Given the description of an element on the screen output the (x, y) to click on. 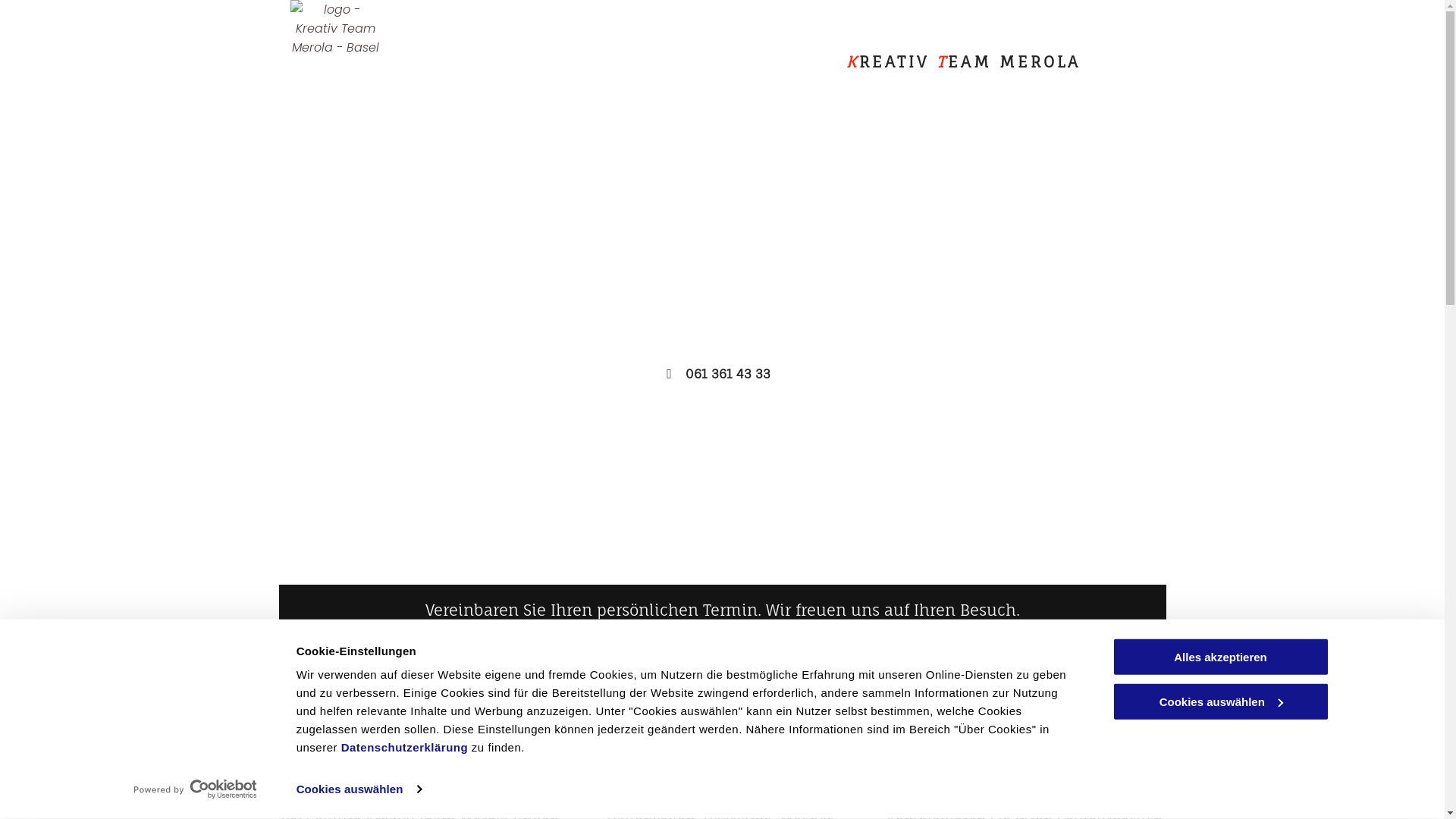
061 361 43 33 Element type: text (721, 374)
Alles akzeptieren Element type: text (1219, 656)
